Given the description of an element on the screen output the (x, y) to click on. 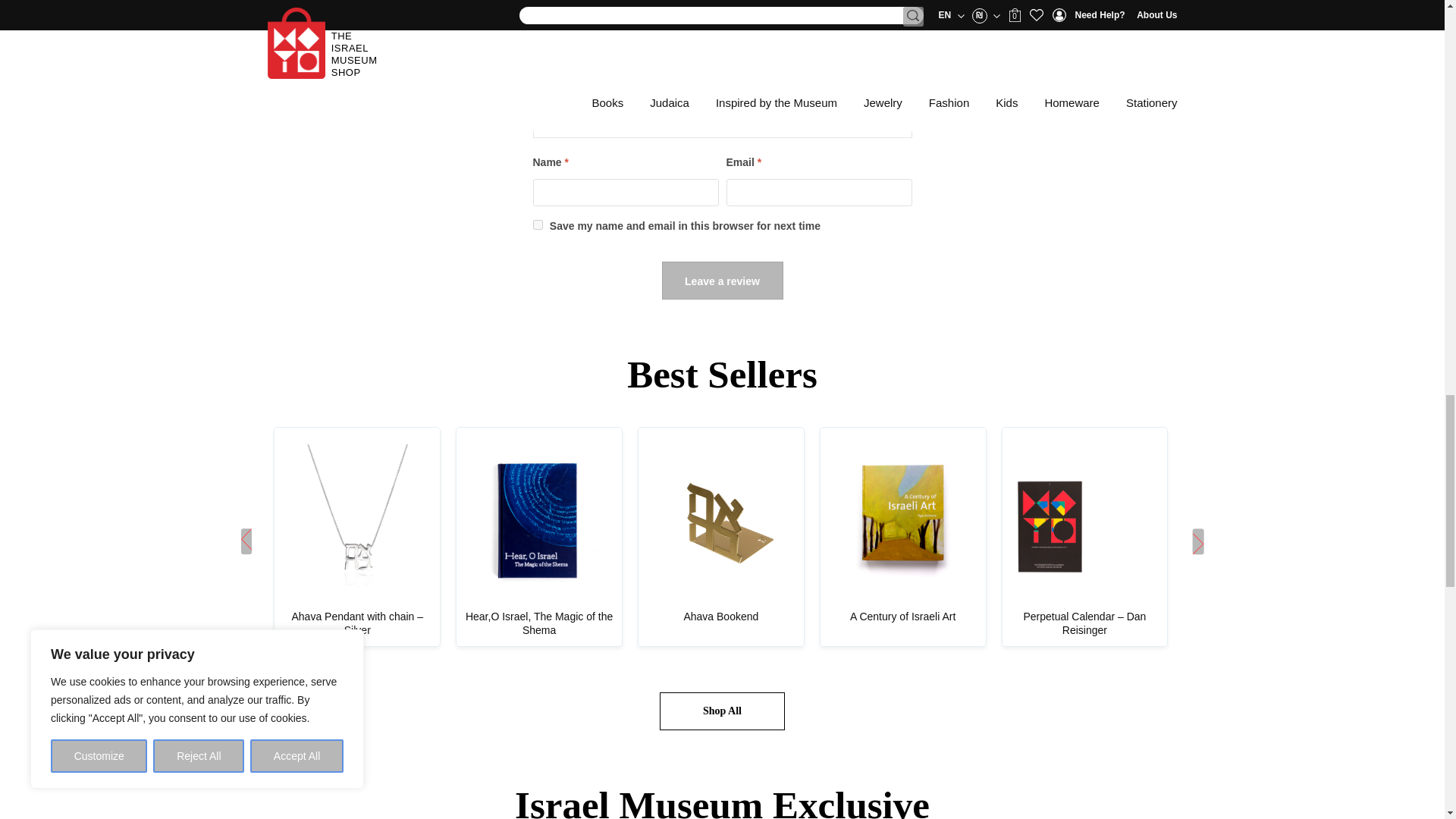
yes (536, 225)
Leave a review (722, 280)
